Given the description of an element on the screen output the (x, y) to click on. 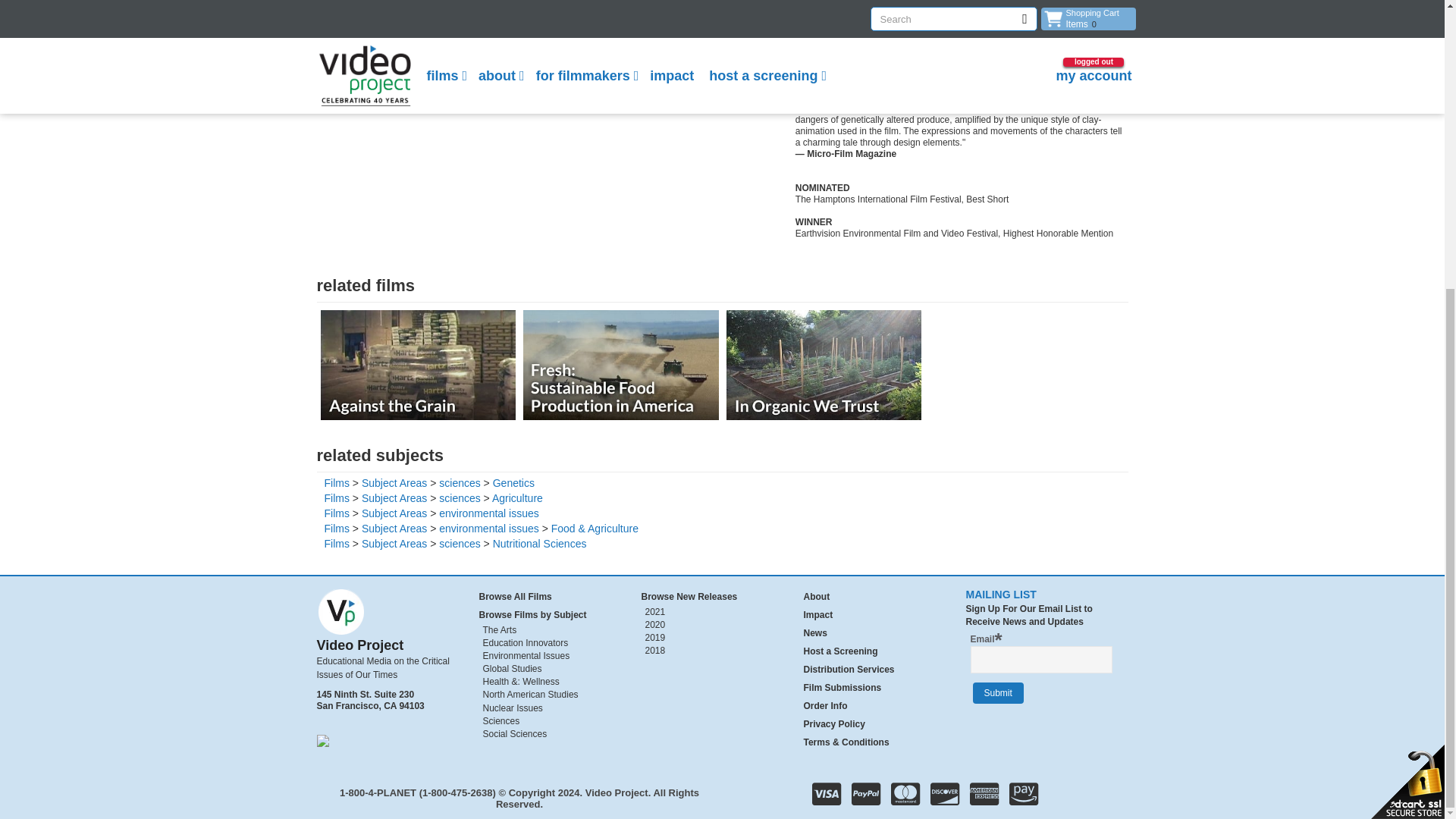
Submit (997, 692)
